Given the description of an element on the screen output the (x, y) to click on. 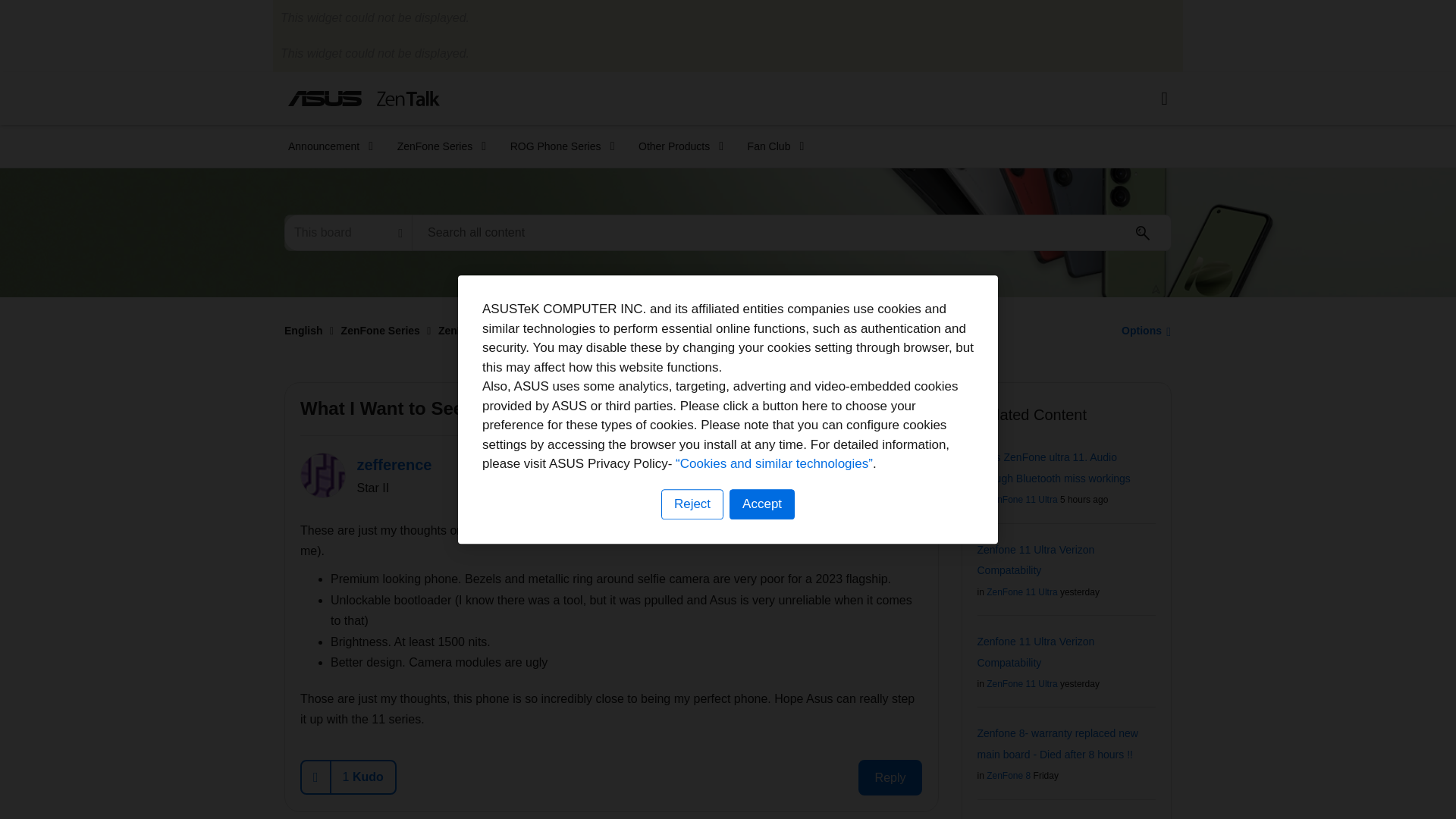
Show option menu (1142, 330)
ZenFone Series (436, 146)
ASUS - ZenTalk (363, 97)
Search (1142, 232)
Search (1142, 232)
zefference (322, 474)
ROG Phone Series (557, 146)
Announcement (325, 146)
Search Granularity (347, 232)
Other Products (676, 146)
